Given the description of an element on the screen output the (x, y) to click on. 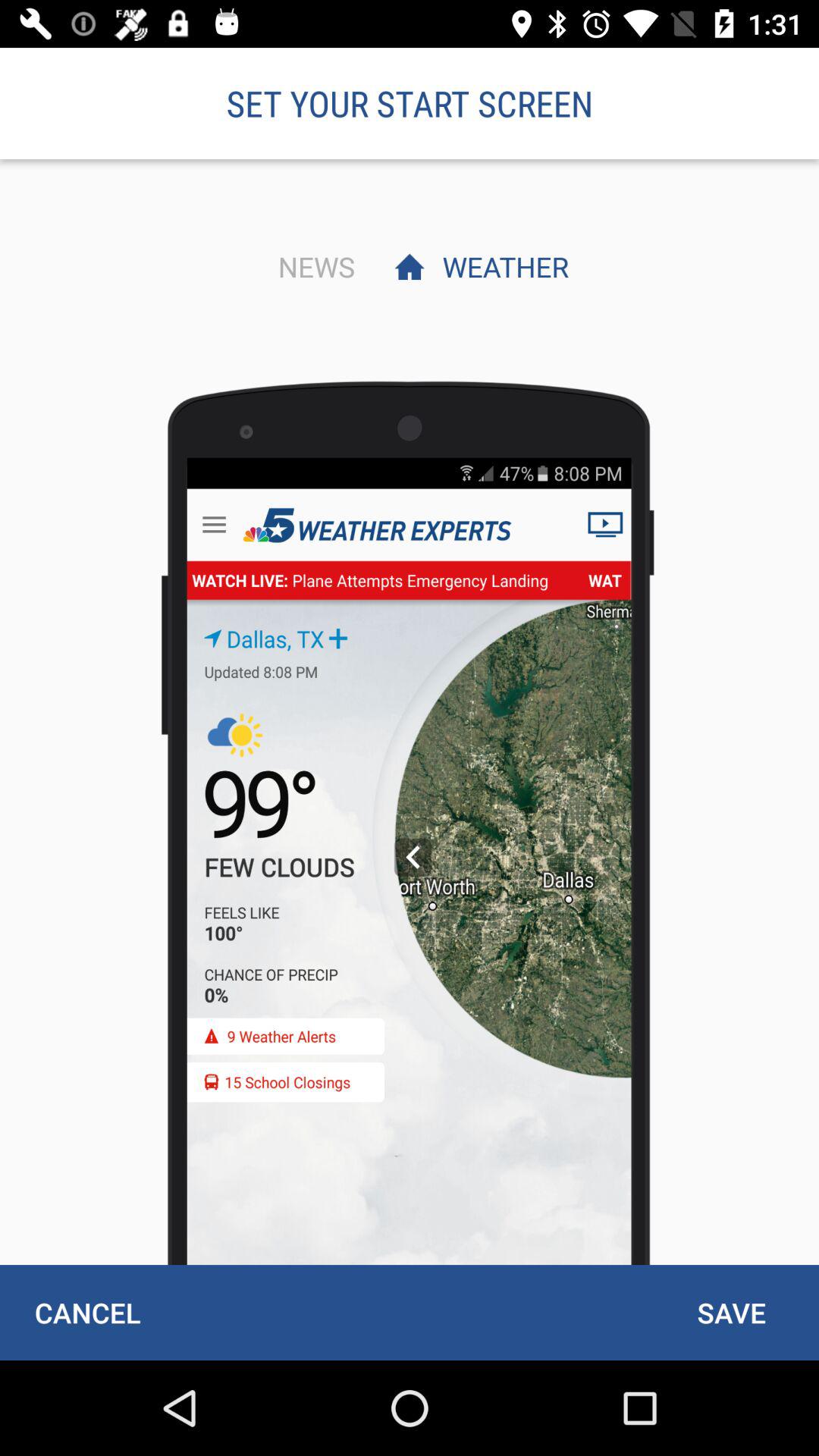
open weather icon (501, 266)
